Given the description of an element on the screen output the (x, y) to click on. 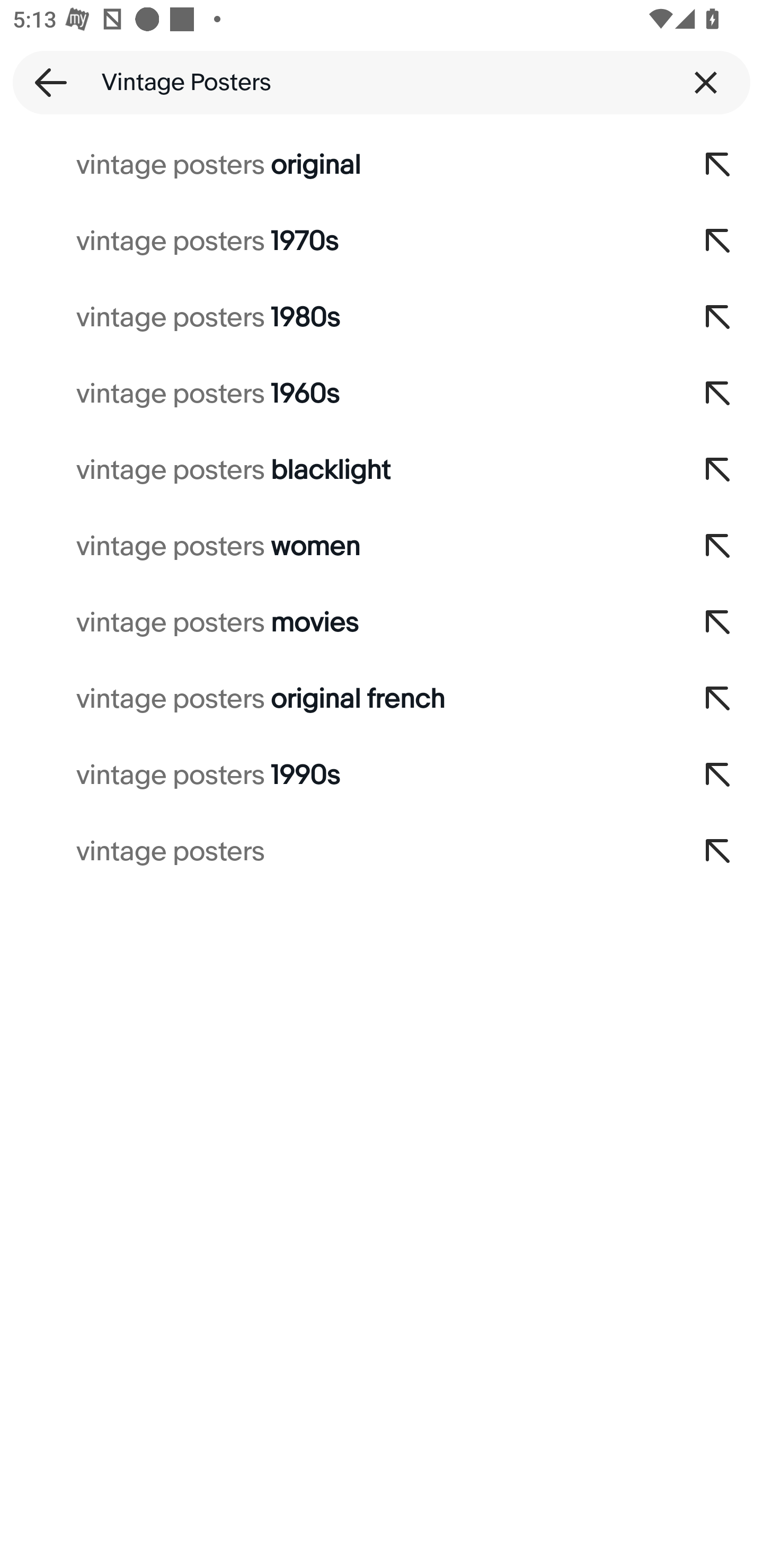
Back (44, 82)
Clear query (705, 82)
Vintage Posters (381, 82)
vintage posters original (336, 165)
Add to search query,vintage posters original (718, 165)
vintage posters 1970s (336, 241)
Add to search query,vintage posters 1970s (718, 241)
vintage posters 1980s (336, 317)
Add to search query,vintage posters 1980s (718, 317)
vintage posters 1960s (336, 393)
Add to search query,vintage posters 1960s (718, 393)
vintage posters blacklight (336, 470)
Add to search query,vintage posters blacklight (718, 470)
vintage posters women (336, 546)
Add to search query,vintage posters women (718, 546)
vintage posters movies (336, 622)
Add to search query,vintage posters movies (718, 622)
vintage posters original french (336, 698)
vintage posters 1990s (336, 774)
